Given the description of an element on the screen output the (x, y) to click on. 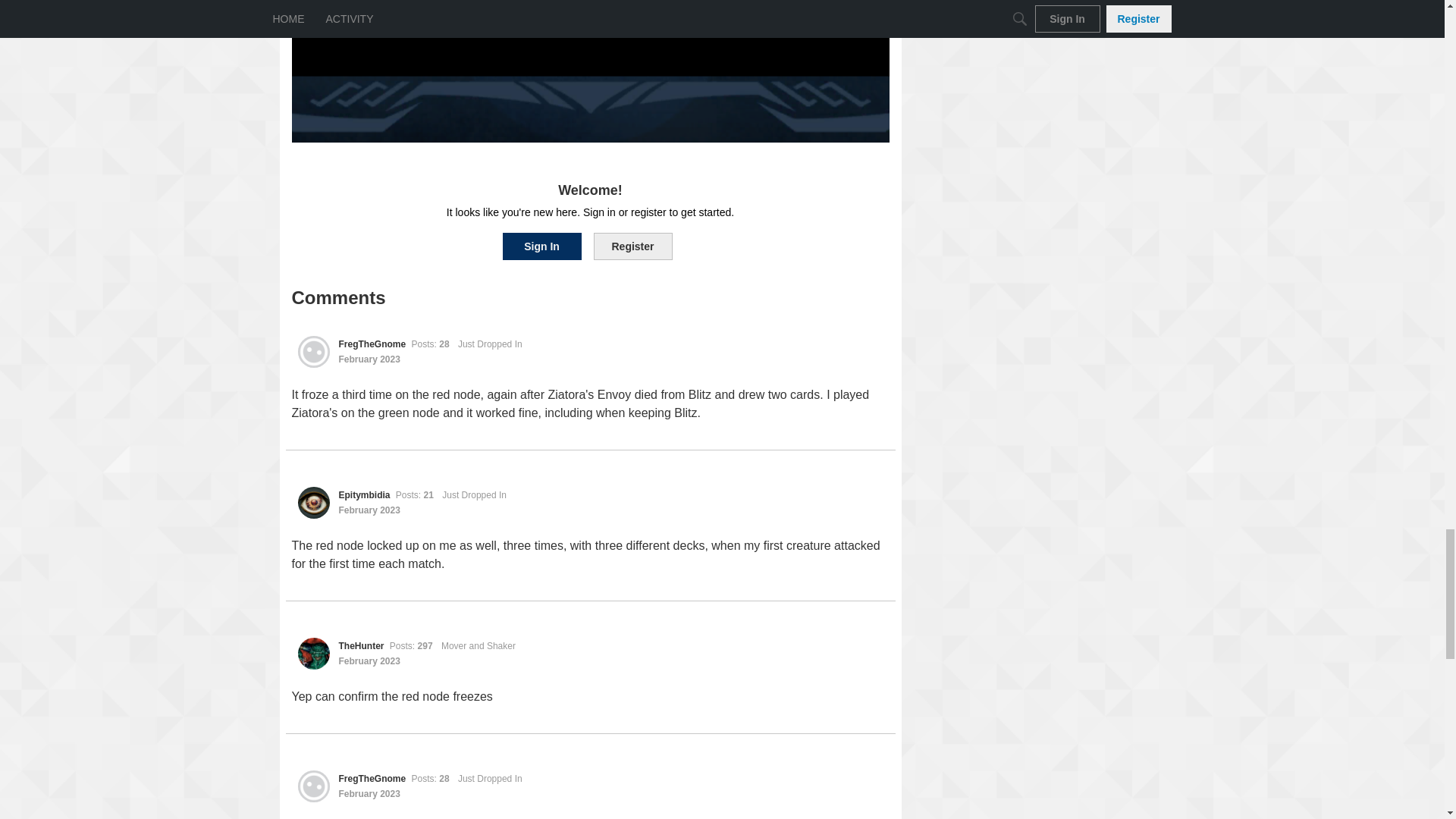
FregTheGnome (313, 351)
6 February 2023, 11:11 (367, 510)
Just Dropped In (490, 778)
TheHunter (360, 645)
6 February 2023, 08:05 (367, 358)
Sign In (541, 246)
February 2023 (367, 793)
February 2023 (367, 358)
Just Dropped In (474, 495)
February 2023 (367, 510)
